Given the description of an element on the screen output the (x, y) to click on. 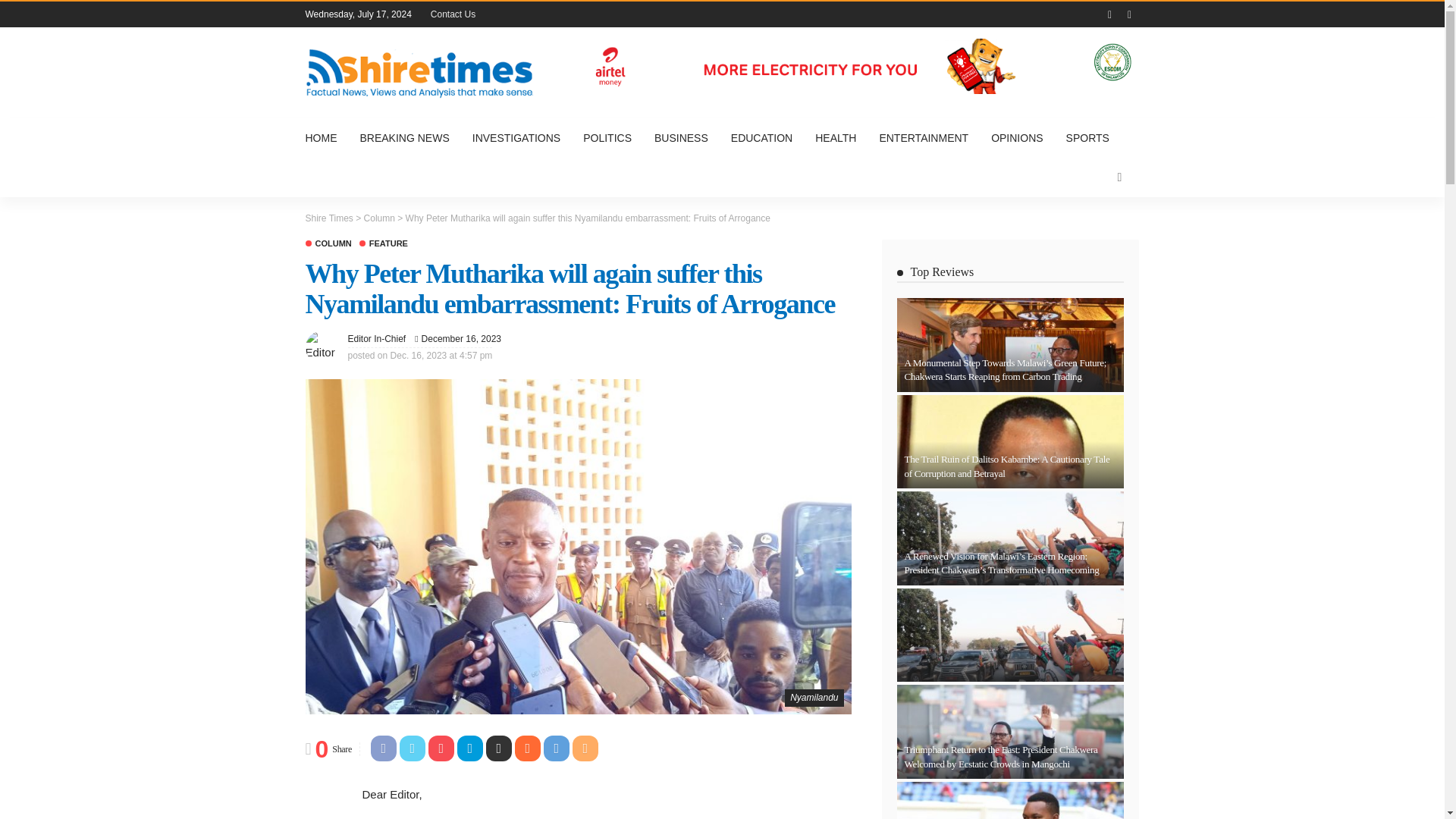
HOME (325, 137)
BREAKING NEWS (405, 137)
Contact Us (453, 14)
